Given the description of an element on the screen output the (x, y) to click on. 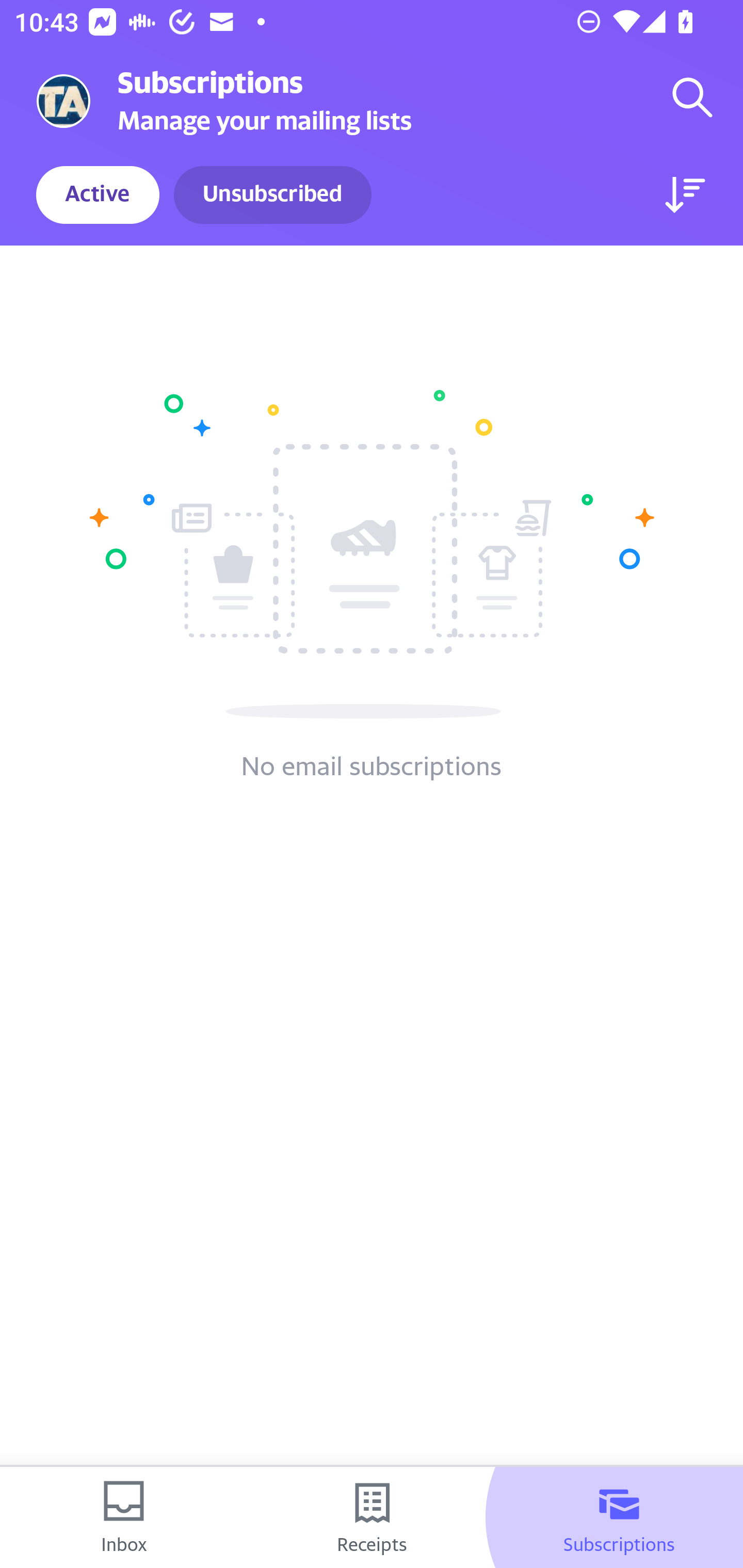
Search mail (692, 97)
Unsubscribed (272, 195)
Sort (684, 195)
Inbox (123, 1517)
Receipts (371, 1517)
Subscriptions (619, 1517)
